Given the description of an element on the screen output the (x, y) to click on. 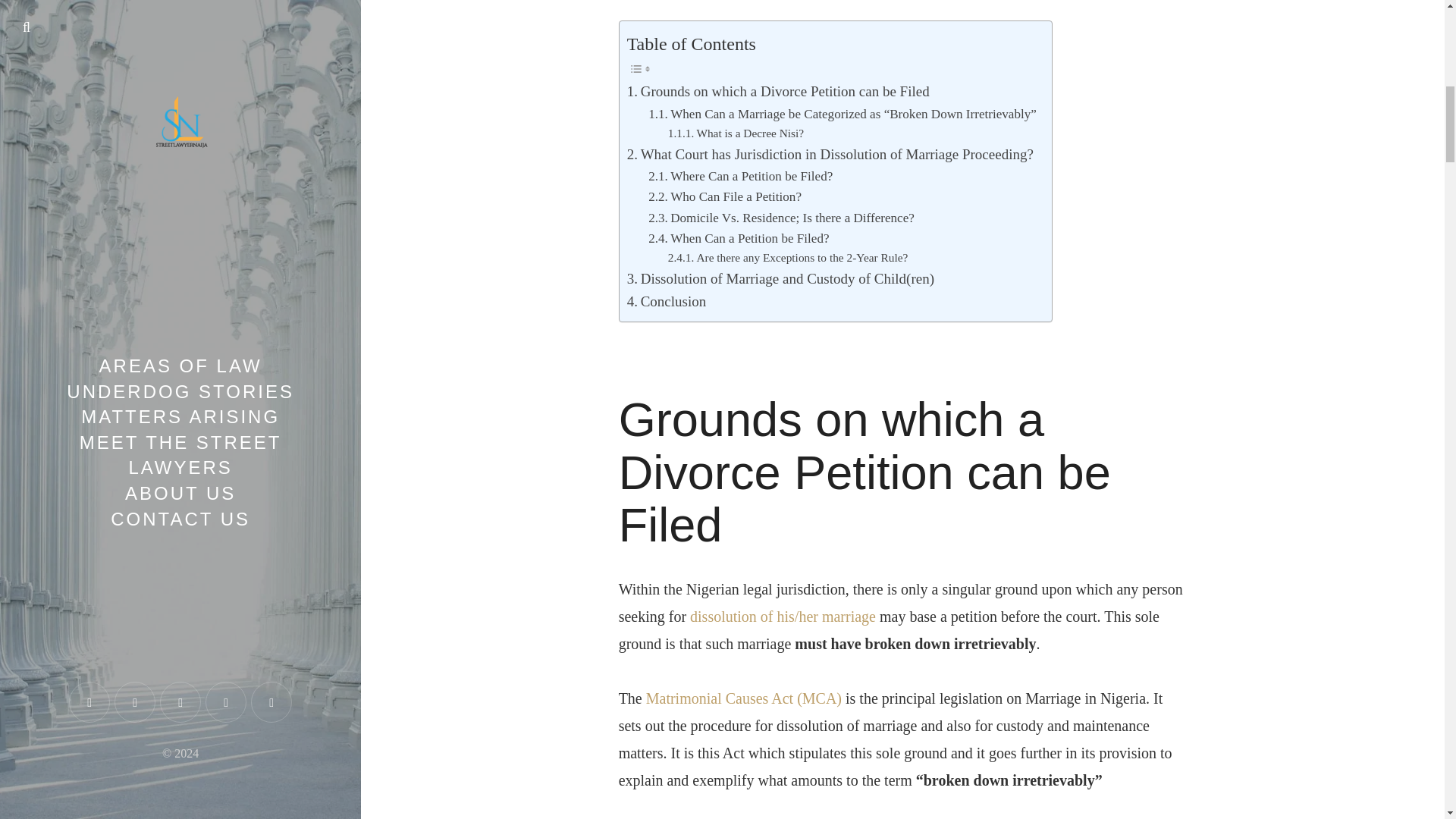
Domicile Vs. Residence; Is there a Difference? (780, 218)
Who Can File a Petition? (724, 196)
Who Can File a Petition? (724, 196)
When Can a Petition be Filed? (737, 238)
Are there any Exceptions to the 2-Year Rule? (788, 257)
What is a Decree Nisi? (735, 133)
When Can a Petition be Filed? (737, 238)
Grounds on which a Divorce Petition can be Filed (778, 91)
Grounds on which a Divorce Petition can be Filed (778, 91)
Are there any Exceptions to the 2-Year Rule? (788, 257)
Conclusion (666, 301)
Where Can a Petition be Filed? (739, 176)
Conclusion (666, 301)
